Given the description of an element on the screen output the (x, y) to click on. 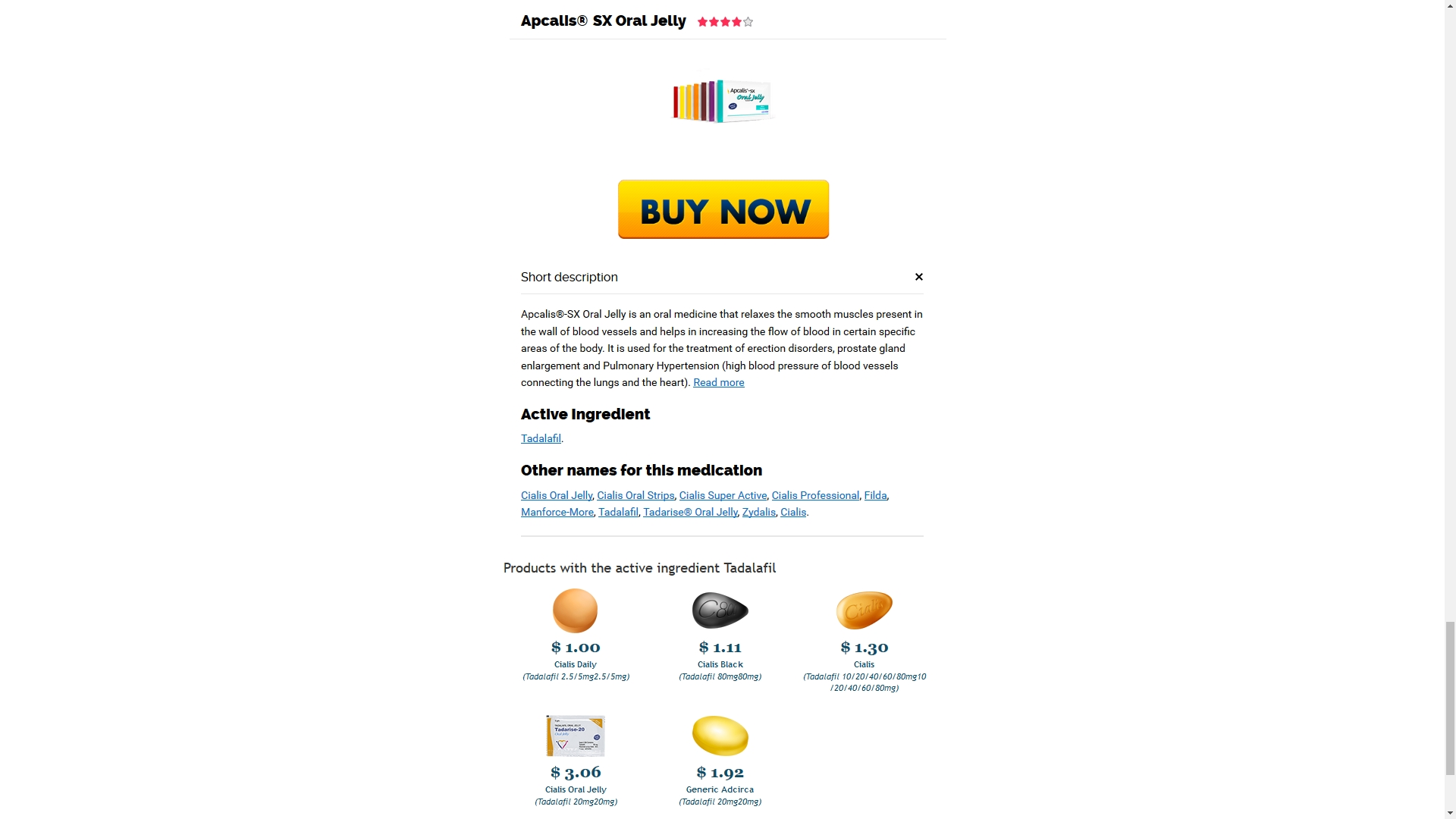
Confrontare i prezzi di Baclofen (407, 365)
Confrontare i prezzi di Baclofen (407, 365)
